Given the description of an element on the screen output the (x, y) to click on. 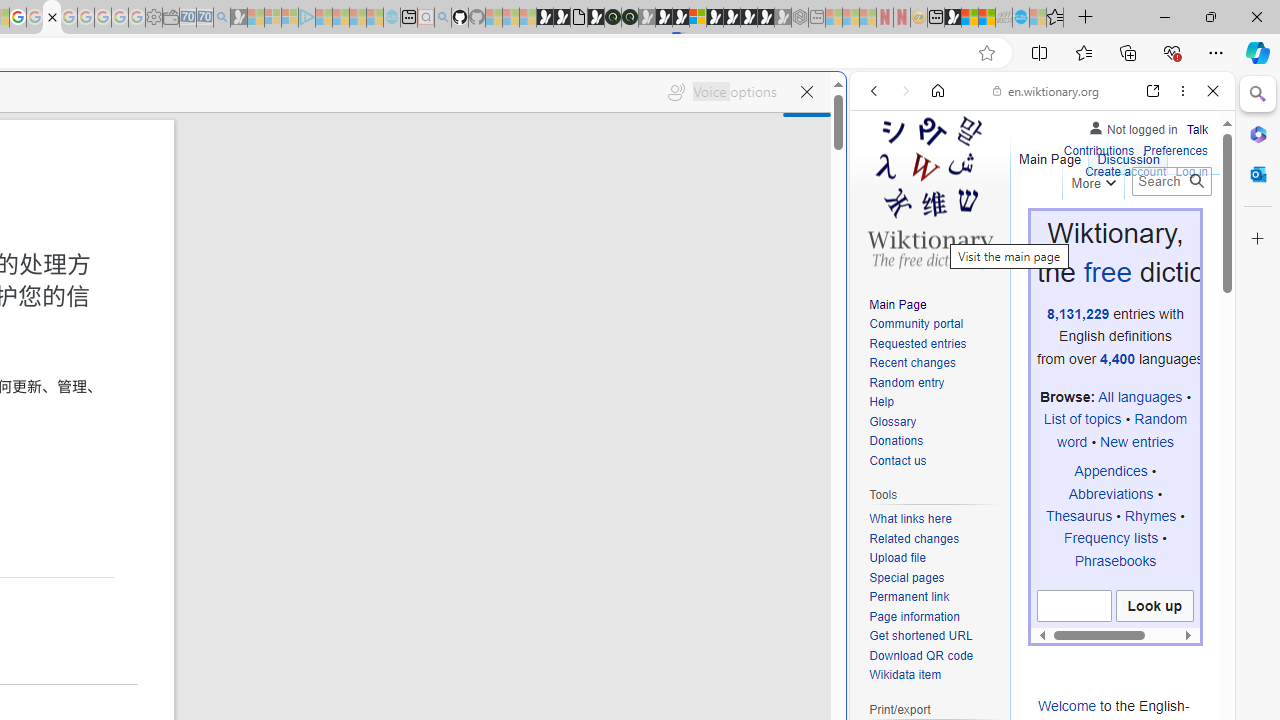
Search Wiktionary (1171, 181)
Special pages (906, 577)
Page information (914, 616)
Random entry (934, 382)
Download QR code (921, 655)
Discussion (1128, 154)
Page information (934, 616)
Contact us (897, 460)
Earth has six continents not seven, radical new study claims (986, 17)
